Given the description of an element on the screen output the (x, y) to click on. 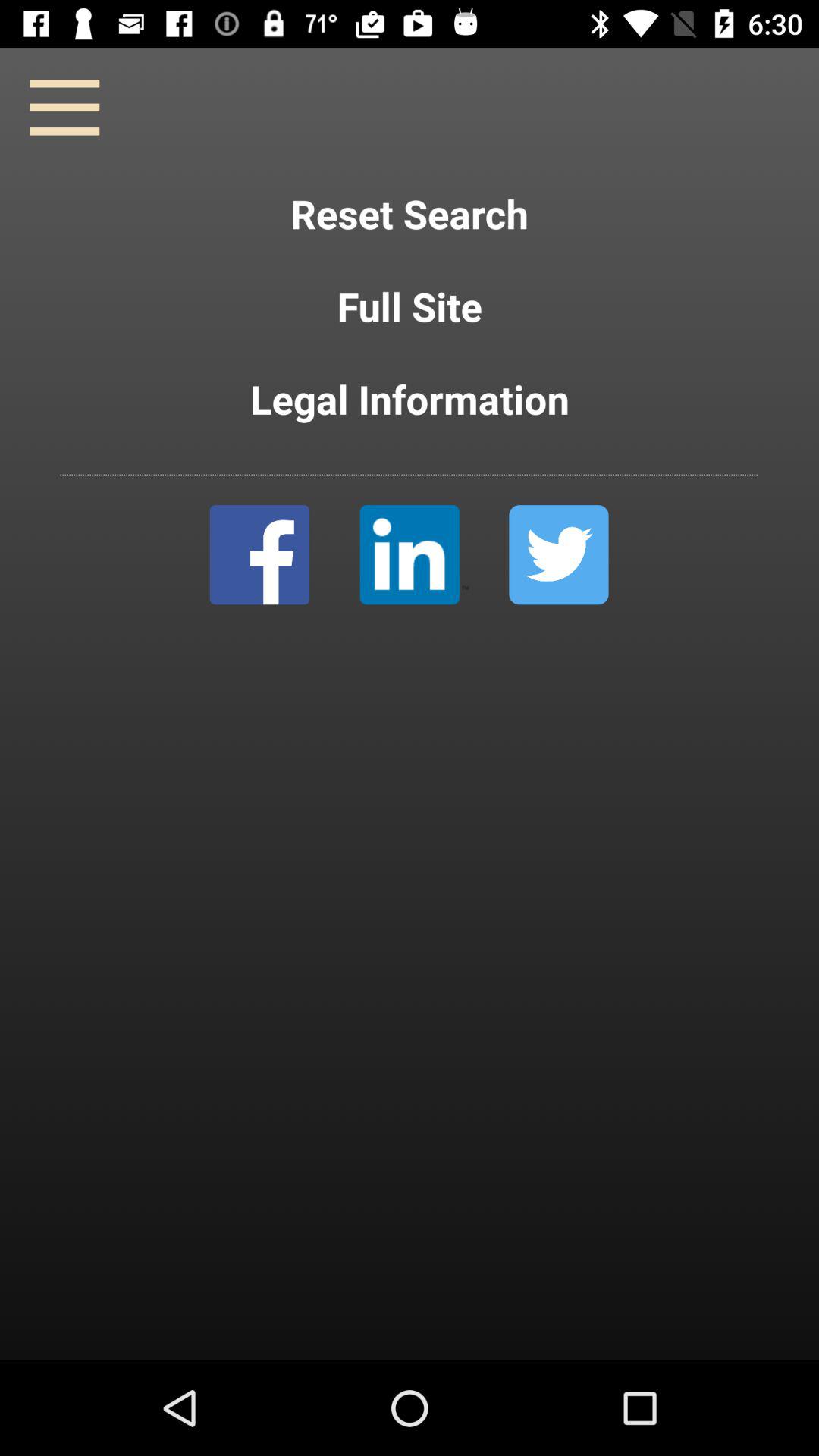
twitter selection (558, 554)
